Given the description of an element on the screen output the (x, y) to click on. 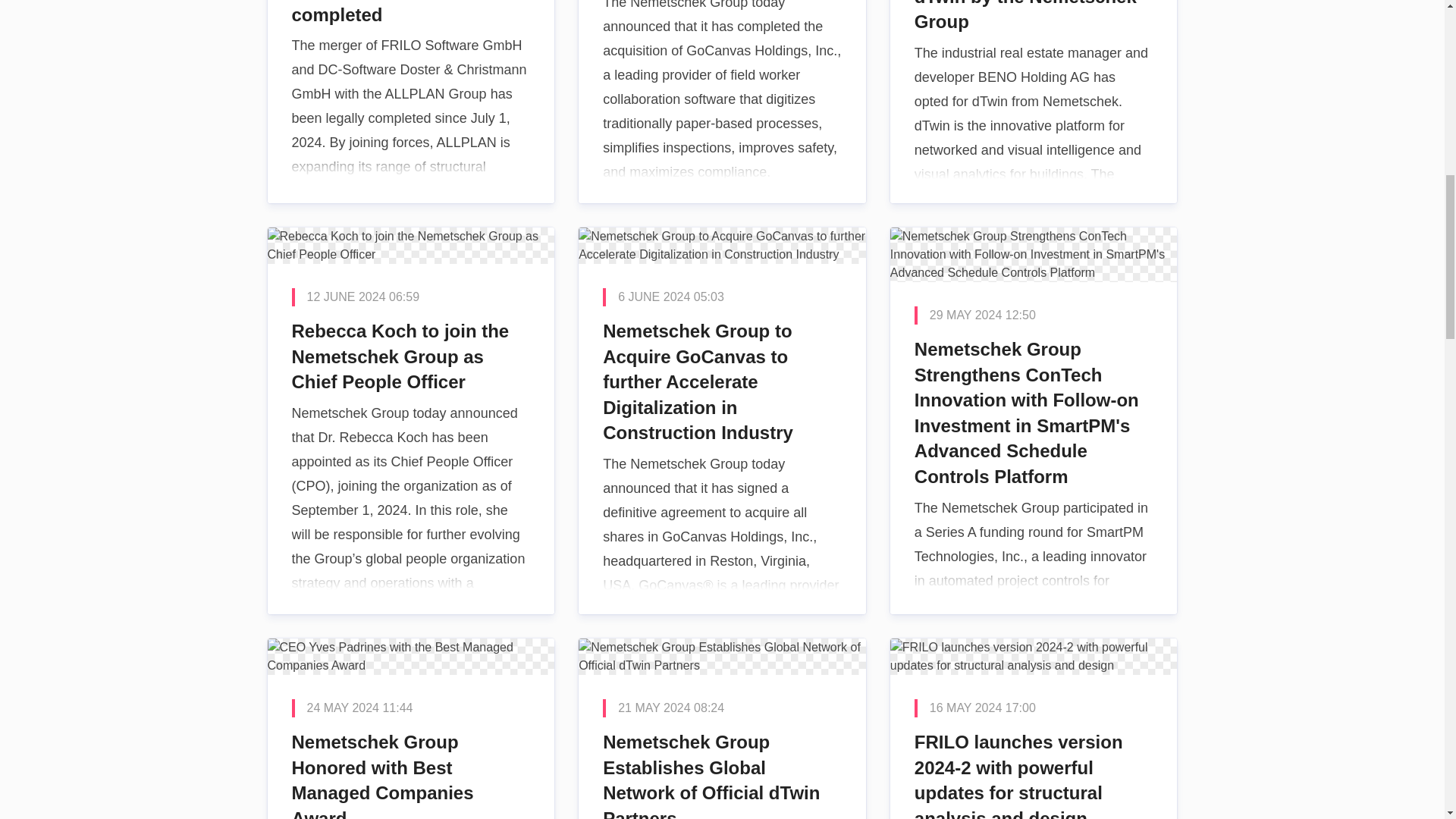
Nemetschek Group Honored with Best Managed Companies Award (410, 728)
